Given the description of an element on the screen output the (x, y) to click on. 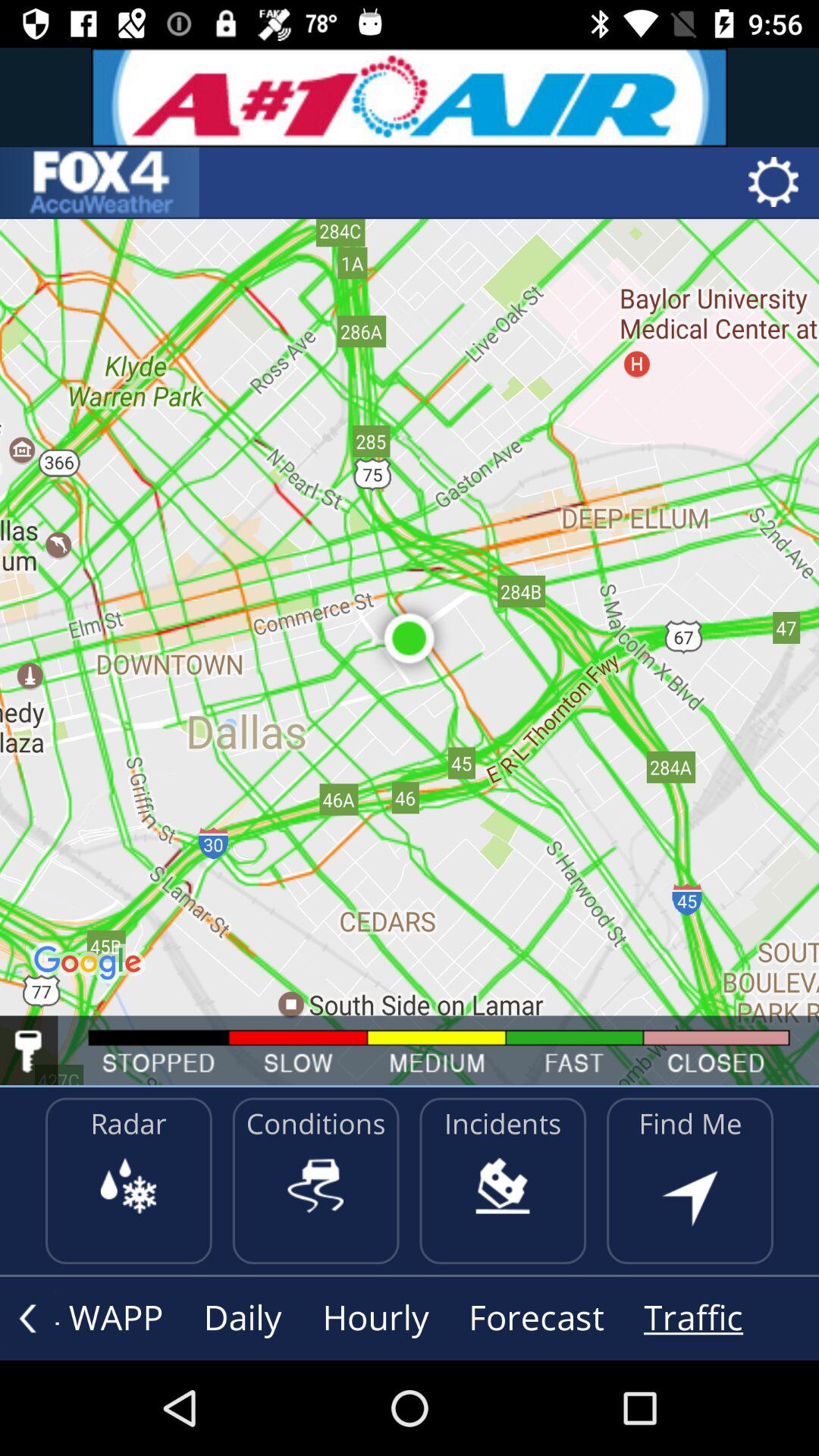
home (99, 182)
